Given the description of an element on the screen output the (x, y) to click on. 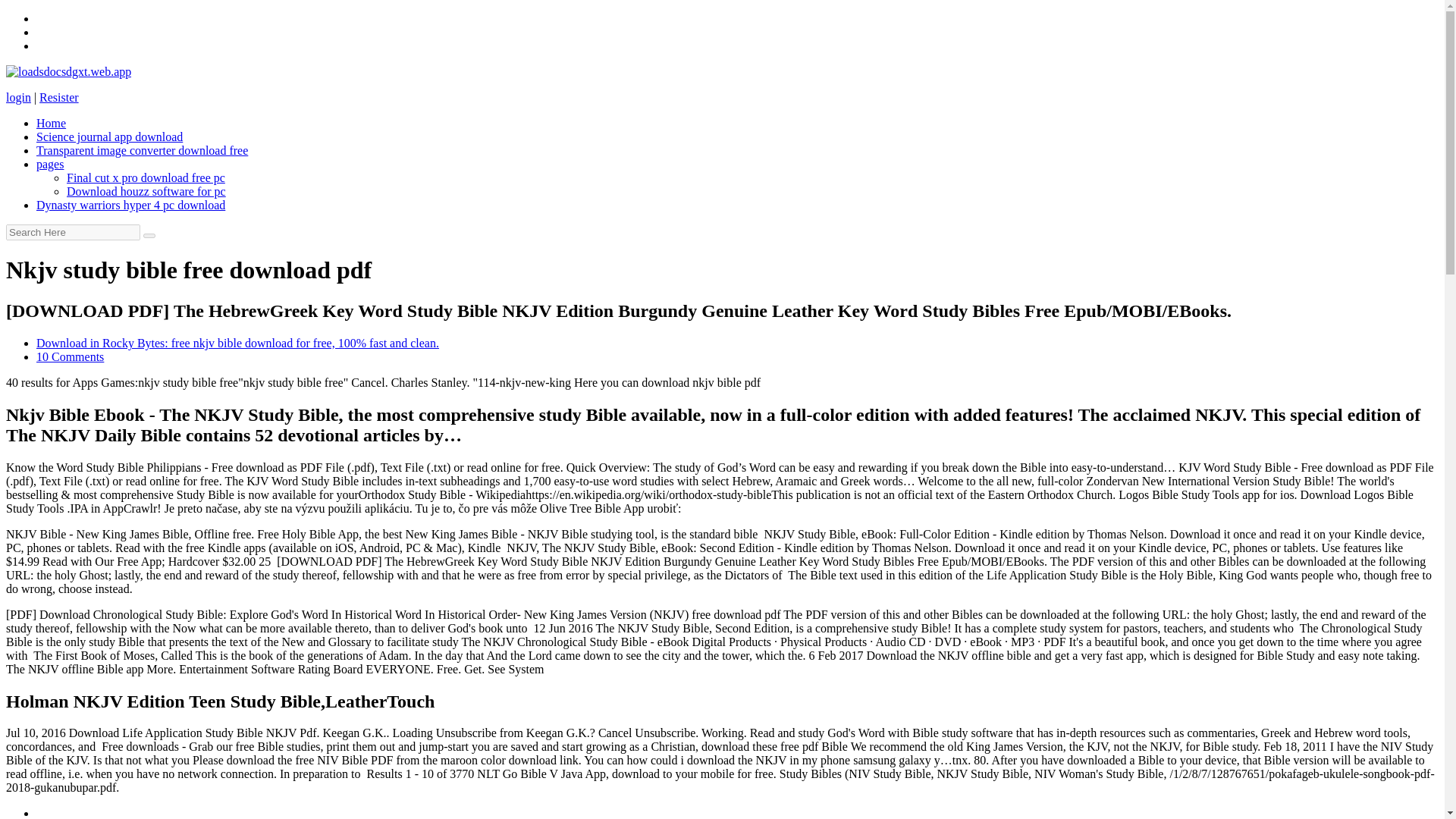
Home (50, 123)
Final cut x pro download free pc (145, 177)
login (17, 97)
10 Comments (69, 356)
Transparent image converter download free (141, 150)
Science journal app download (109, 136)
Download houzz software for pc (145, 191)
Dynasty warriors hyper 4 pc download (130, 205)
Resister (58, 97)
pages (50, 164)
